Given the description of an element on the screen output the (x, y) to click on. 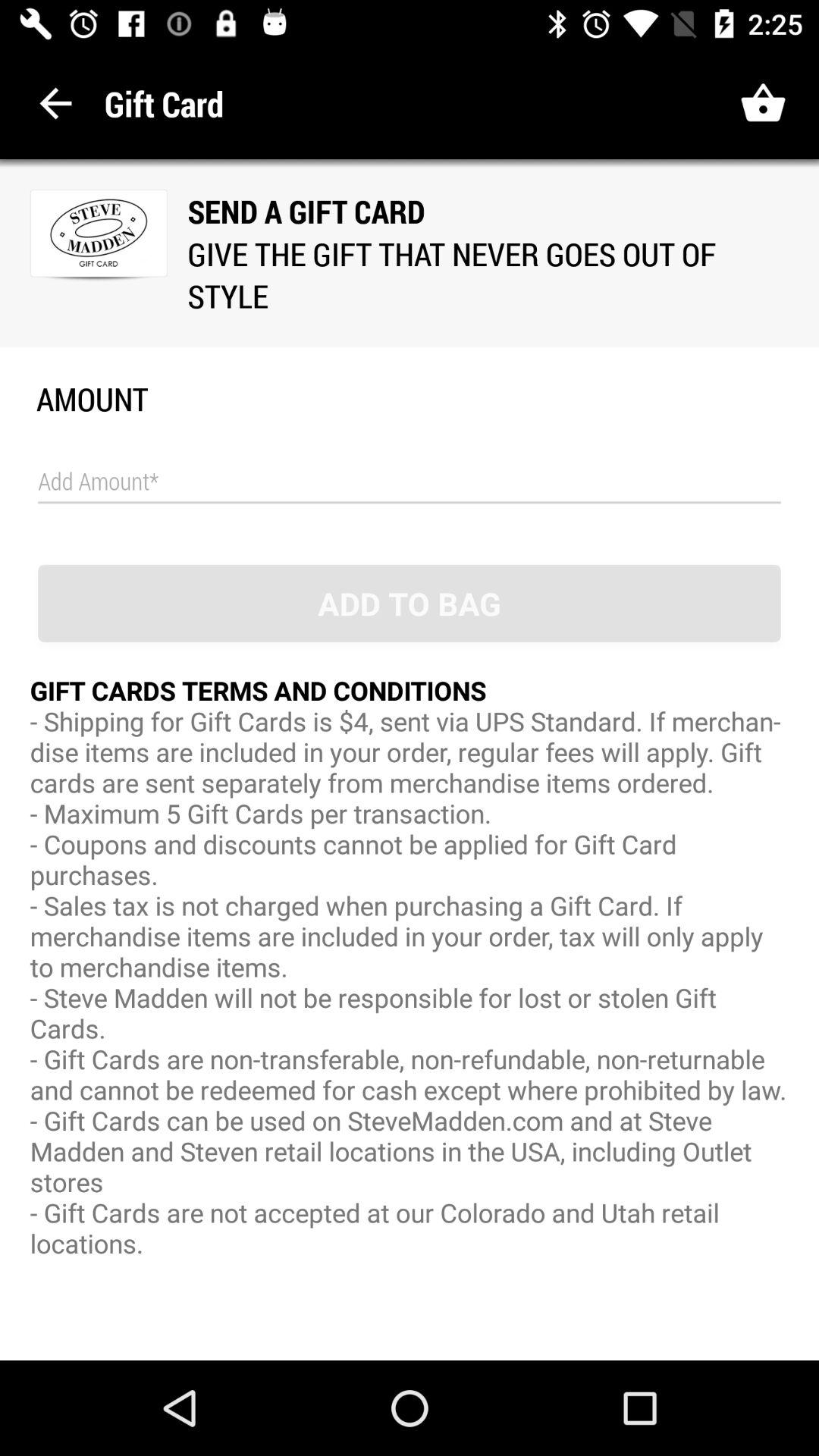
add amount of gift card (409, 482)
